Given the description of an element on the screen output the (x, y) to click on. 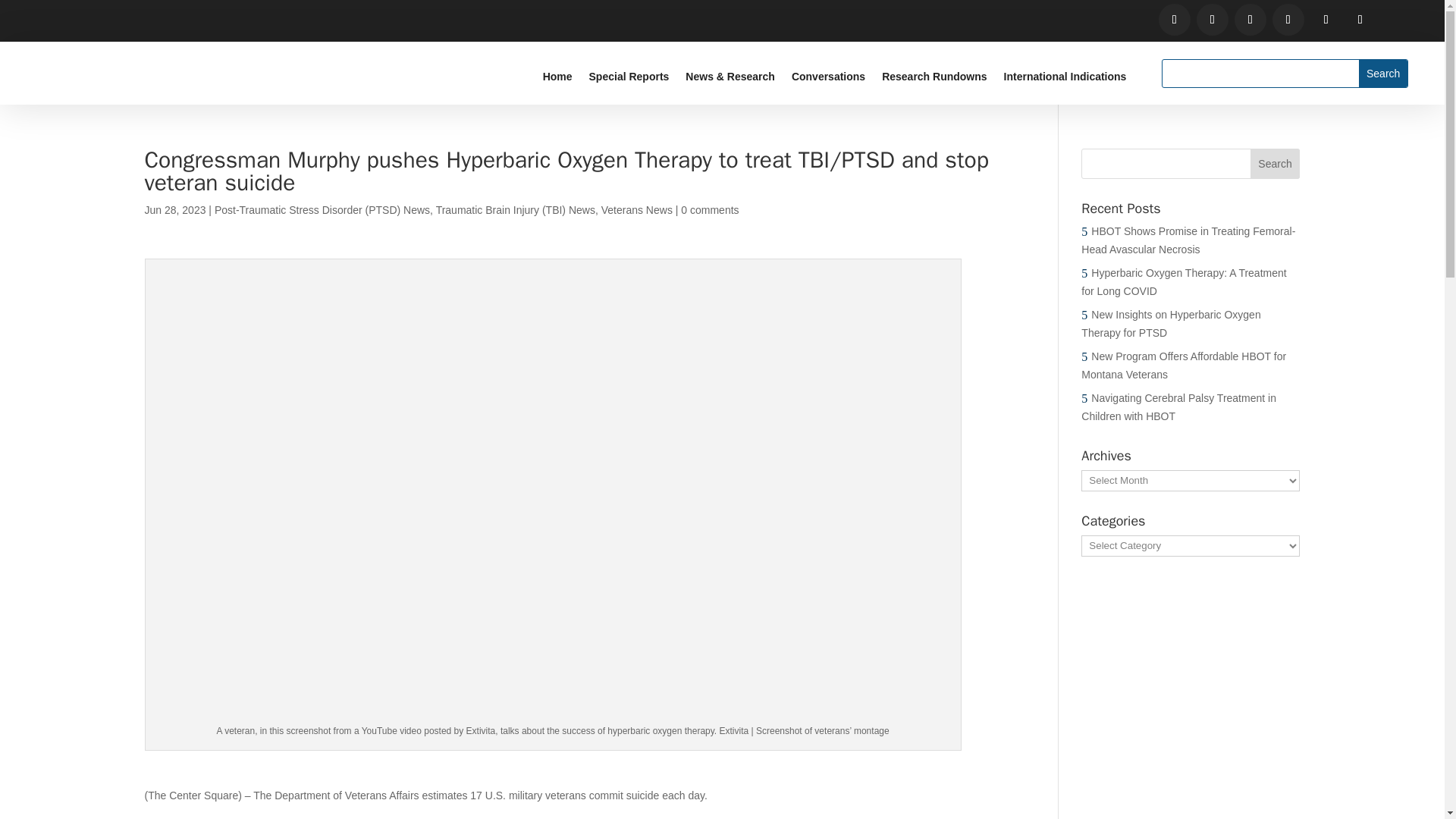
0 comments (709, 209)
Follow on Spotify (1326, 20)
Navigating Cerebral Palsy Treatment in Children with HBOT (1178, 407)
Search (1275, 163)
HBOT News Network Logo Color (89, 76)
Follow on Facebook (1174, 20)
Search (1275, 163)
New Insights on Hyperbaric Oxygen Therapy for PTSD (1170, 323)
Search (1382, 72)
Follow on Youtube (1288, 20)
International Indications (1065, 79)
Special Reports (629, 79)
Follow on X (1212, 20)
Research Rundowns (934, 79)
